Given the description of an element on the screen output the (x, y) to click on. 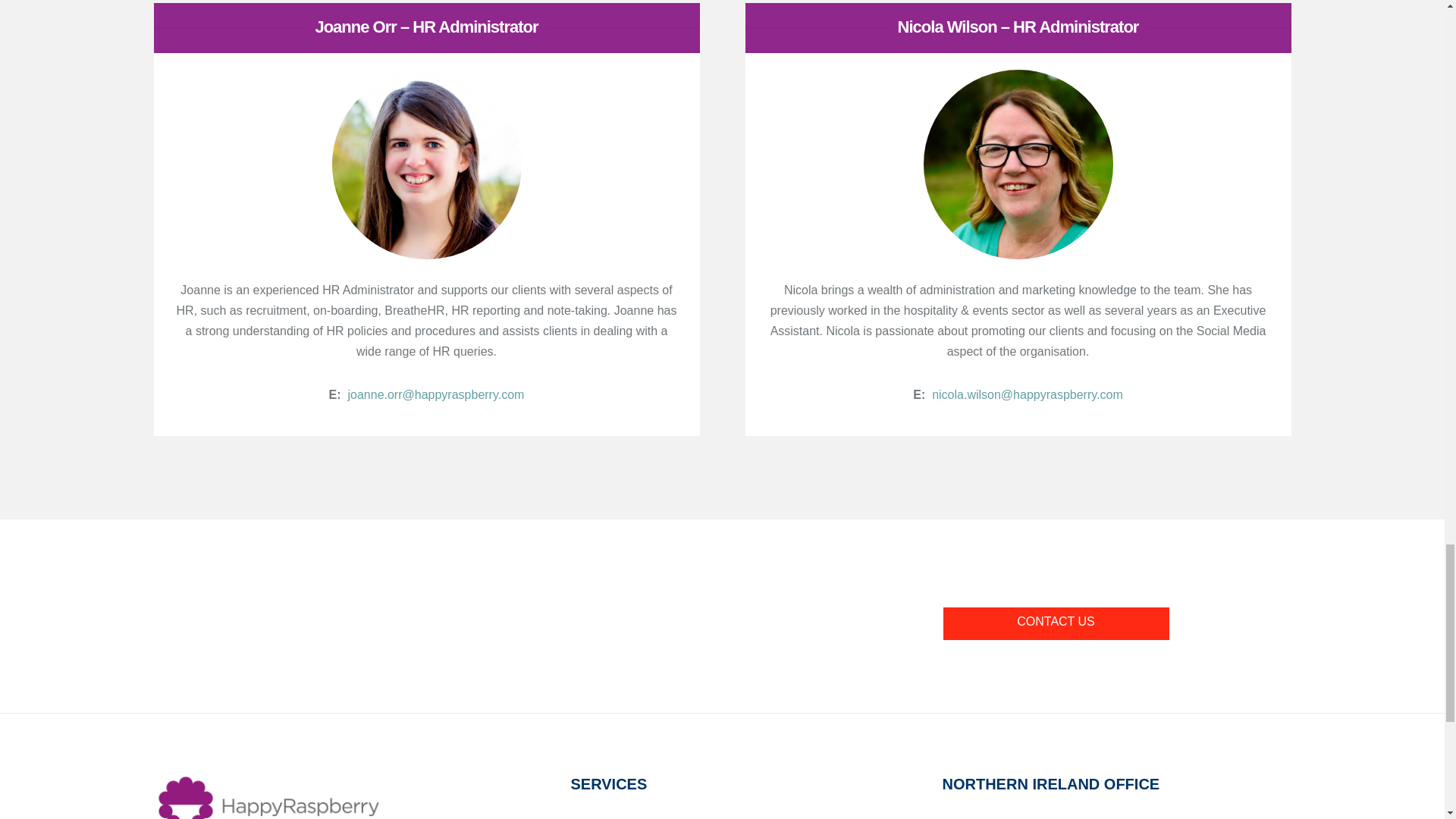
CONTACT US (1055, 623)
